Given the description of an element on the screen output the (x, y) to click on. 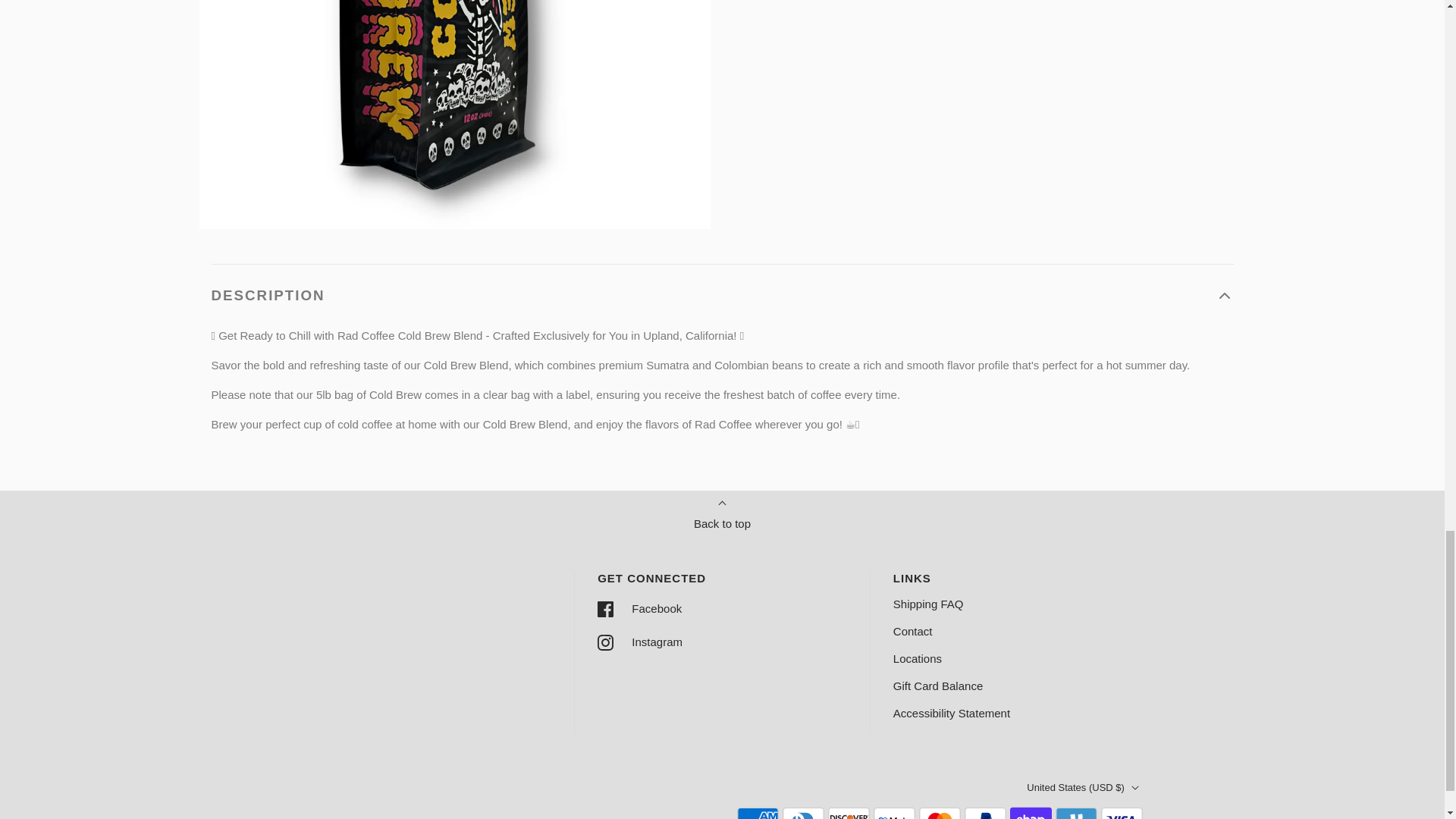
Shop Pay (1030, 812)
Diners Club (803, 812)
PayPal (984, 812)
Facebook icon (604, 609)
Mastercard (939, 812)
Discover (848, 812)
Instagram icon (604, 642)
American Express (757, 812)
Meta Pay (894, 812)
